Given the description of an element on the screen output the (x, y) to click on. 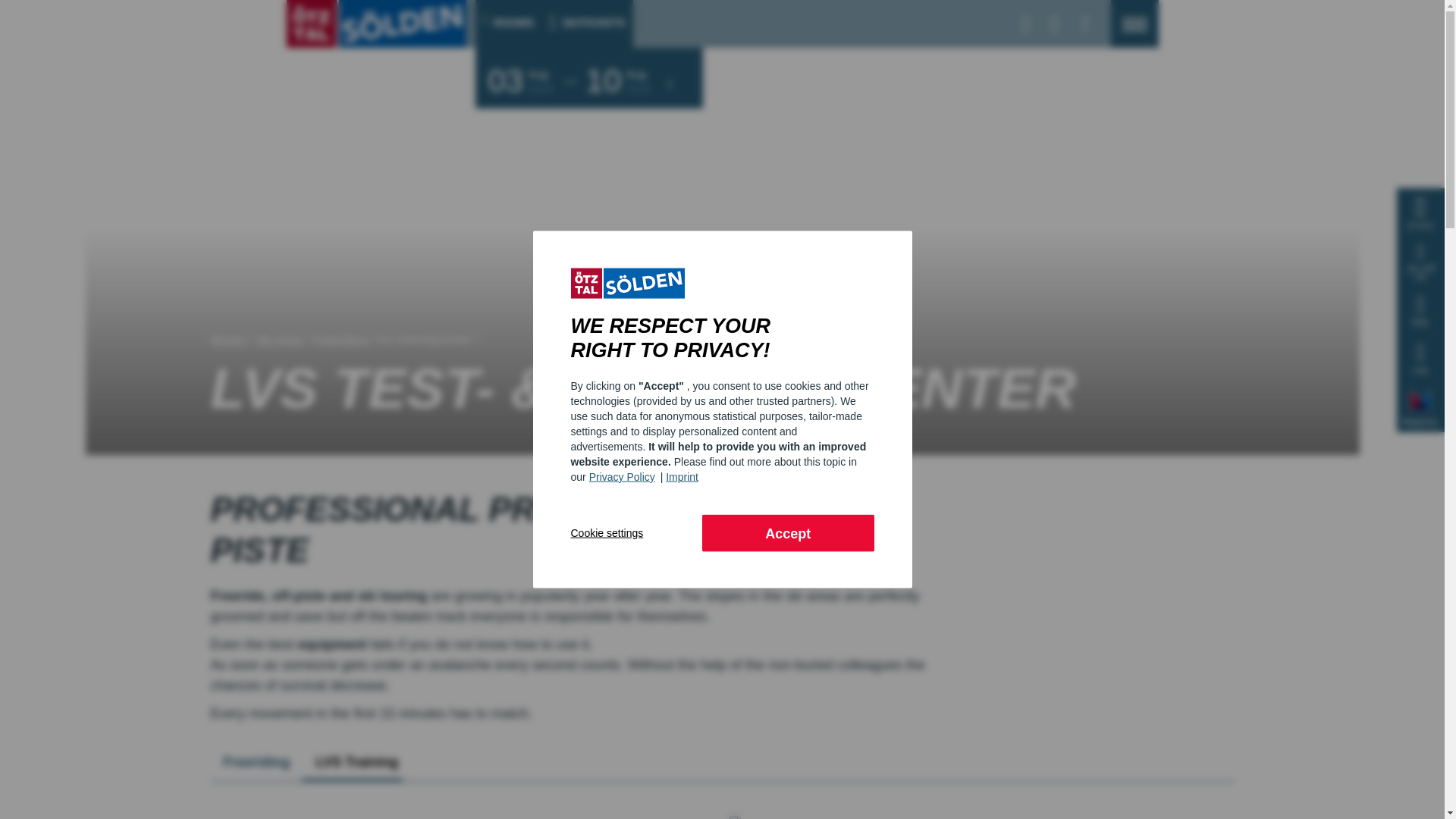
Imprint (682, 476)
Cookie settings (635, 532)
Accept (787, 532)
SKITICKETS (583, 31)
Privacy Policy (623, 476)
